Given the description of an element on the screen output the (x, y) to click on. 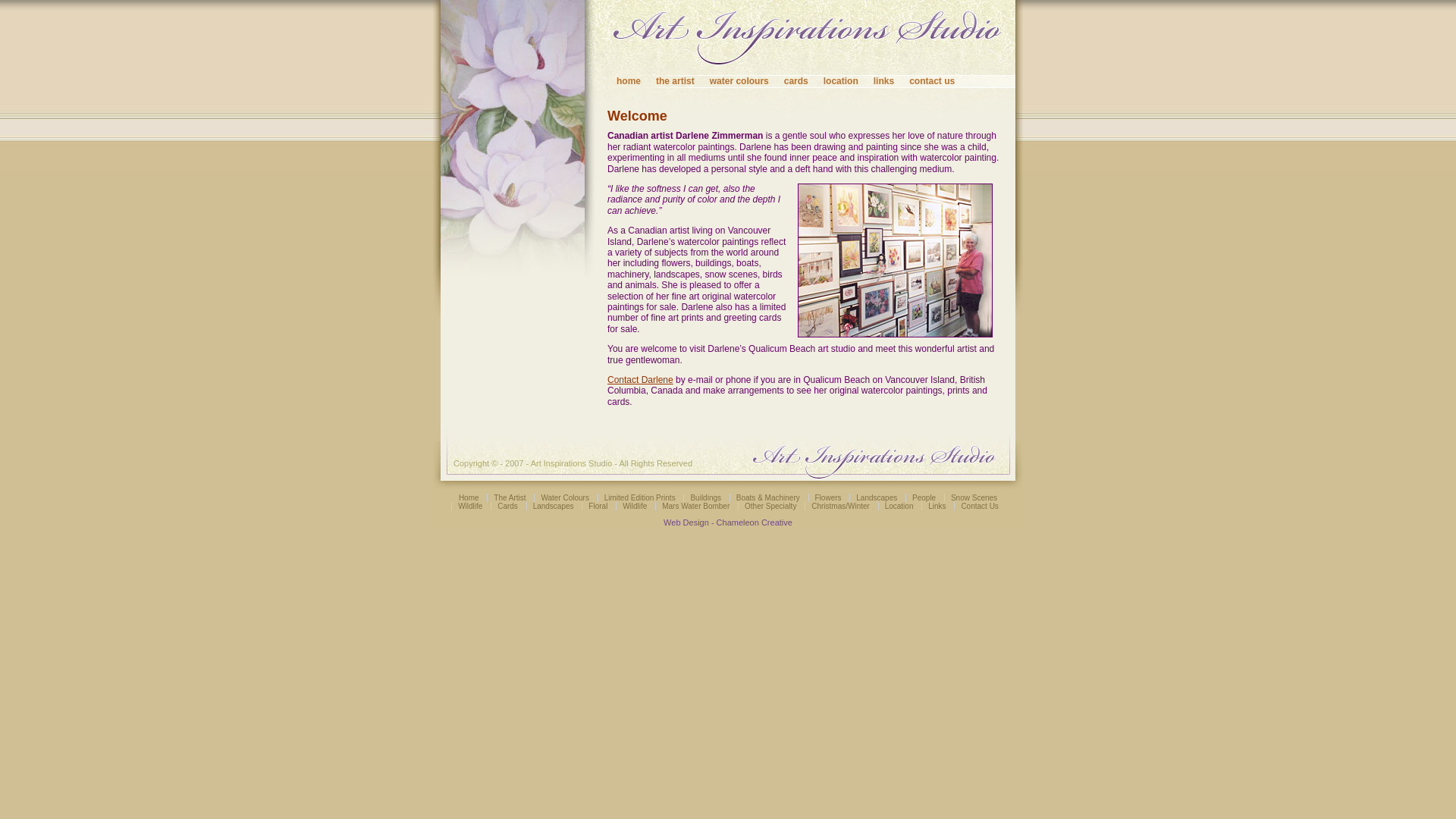
Location Element type: text (898, 506)
Floral Element type: text (597, 506)
Contact Darlene Element type: text (640, 379)
cards Element type: text (803, 81)
Other Specialty Element type: text (770, 506)
Limited Edition Prints Element type: text (639, 497)
home Element type: text (635, 81)
Boats & Machinery Element type: text (768, 497)
Cards Element type: text (507, 506)
People Element type: text (923, 497)
location Element type: text (848, 81)
contact us Element type: text (939, 81)
Links Element type: text (936, 506)
water colours Element type: text (746, 81)
Contact Us Element type: text (979, 506)
Landscapes Element type: text (553, 506)
Buildings Element type: text (705, 497)
the artist Element type: text (682, 81)
Web Design - Chameleon Creative Element type: text (727, 522)
Home Element type: text (468, 497)
The Artist Element type: text (509, 497)
Wildlife Element type: text (634, 506)
Water Colours Element type: text (564, 497)
Landscapes Element type: text (876, 497)
links Element type: text (891, 81)
Christmas/Winter Element type: text (840, 506)
Flowers Element type: text (828, 497)
Wildlife Element type: text (469, 506)
Mars Water Bomber Element type: text (695, 506)
Snow Scenes Element type: text (973, 497)
